Given the description of an element on the screen output the (x, y) to click on. 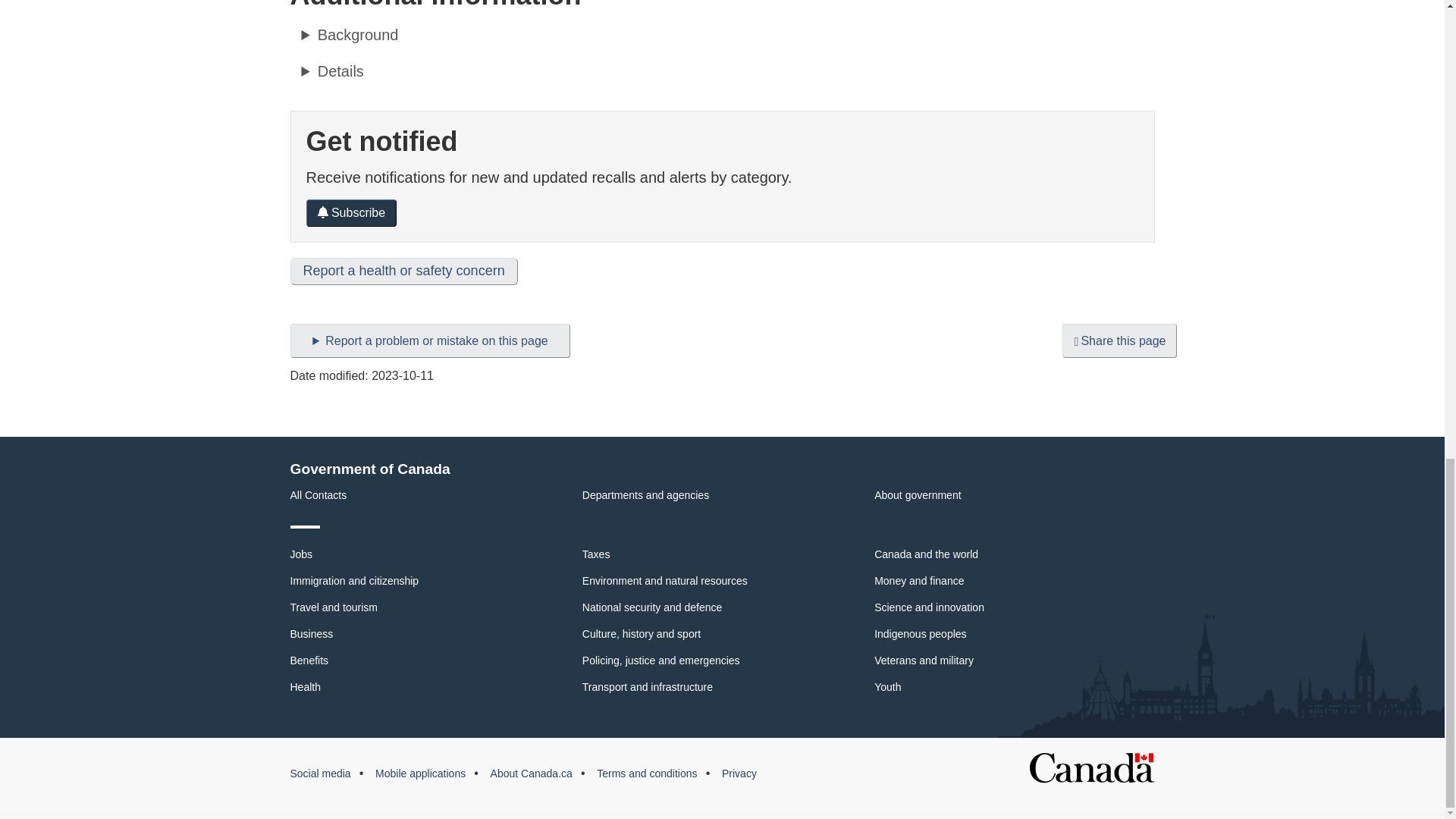
Culture, history and sport section. (641, 633)
Policing, justice and emergencies section. (660, 660)
Benefits section. (309, 660)
Environment and natural resources (665, 580)
Canada and the world (926, 553)
Departments and agencies (645, 494)
Subscribe (351, 212)
Travel and tourism (333, 607)
Environment and natural resources section. (665, 580)
About government (917, 494)
Culture, history and sport (641, 633)
Business section. (311, 633)
Immigration and citizenship (354, 580)
Benefits (309, 660)
Health section. (304, 686)
